Given the description of an element on the screen output the (x, y) to click on. 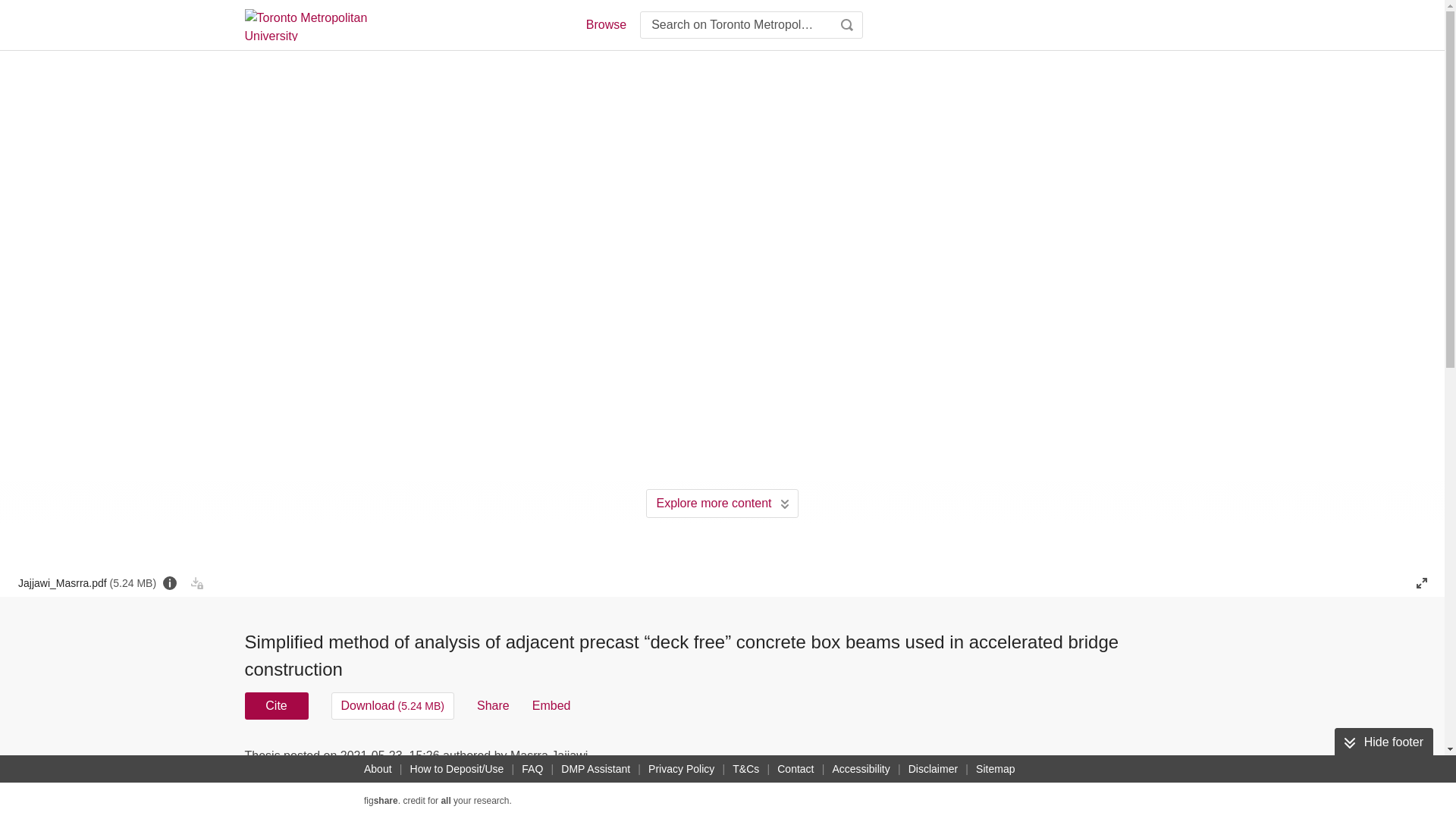
Share (493, 705)
Privacy Policy (681, 769)
Browse (605, 24)
Contact (795, 769)
About (377, 769)
DMP Assistant (595, 769)
USAGE METRICS (976, 759)
FAQ (531, 769)
Hide footer (1383, 742)
Explore more content (721, 502)
Cite (275, 705)
Embed (551, 705)
